Given the description of an element on the screen output the (x, y) to click on. 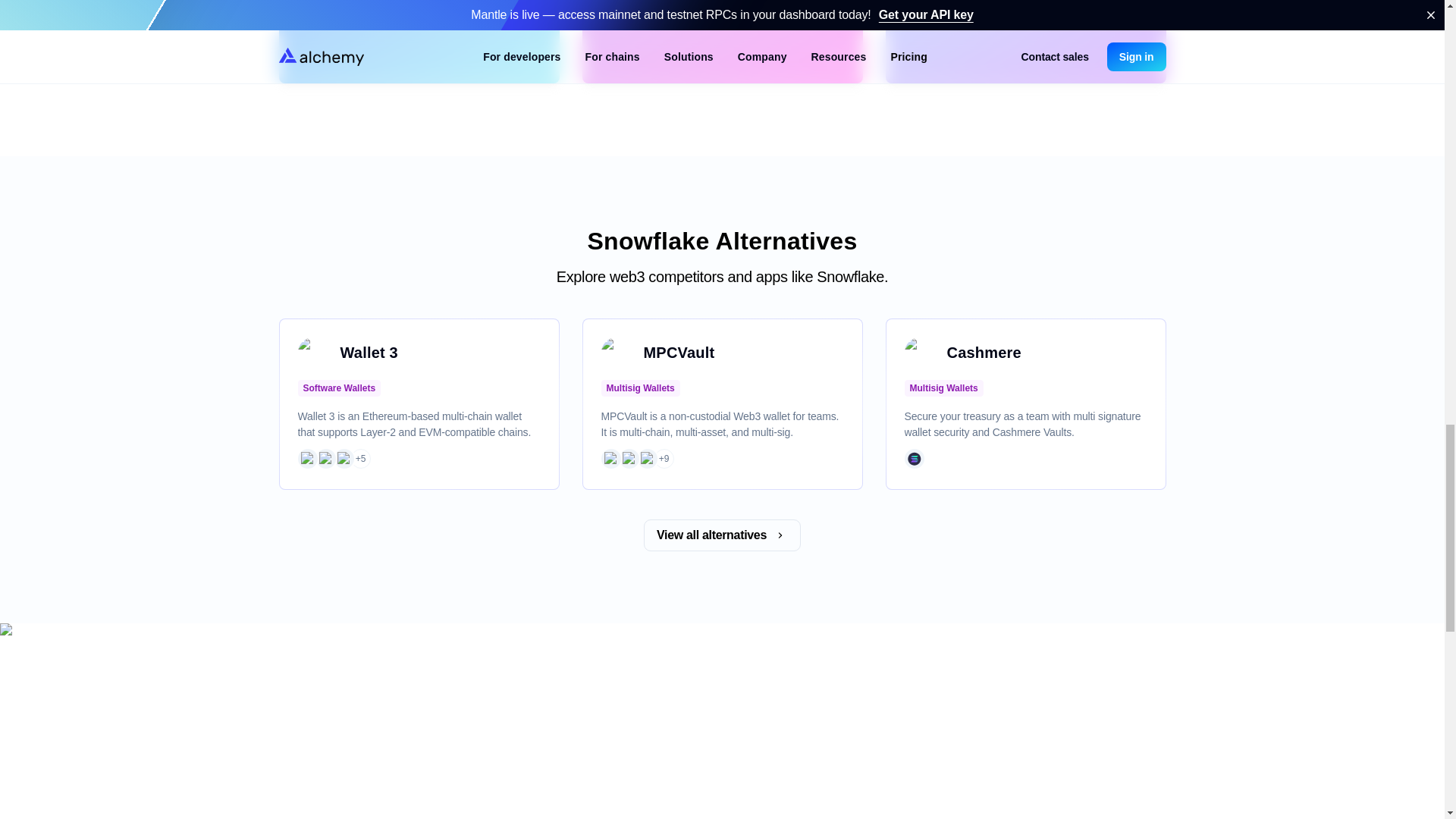
BNB Chain (324, 459)
Aptos (646, 459)
Arbitrum (306, 459)
Polygon (610, 459)
Arbitrum (627, 459)
Avalanche (343, 459)
Solana (913, 459)
